Given the description of an element on the screen output the (x, y) to click on. 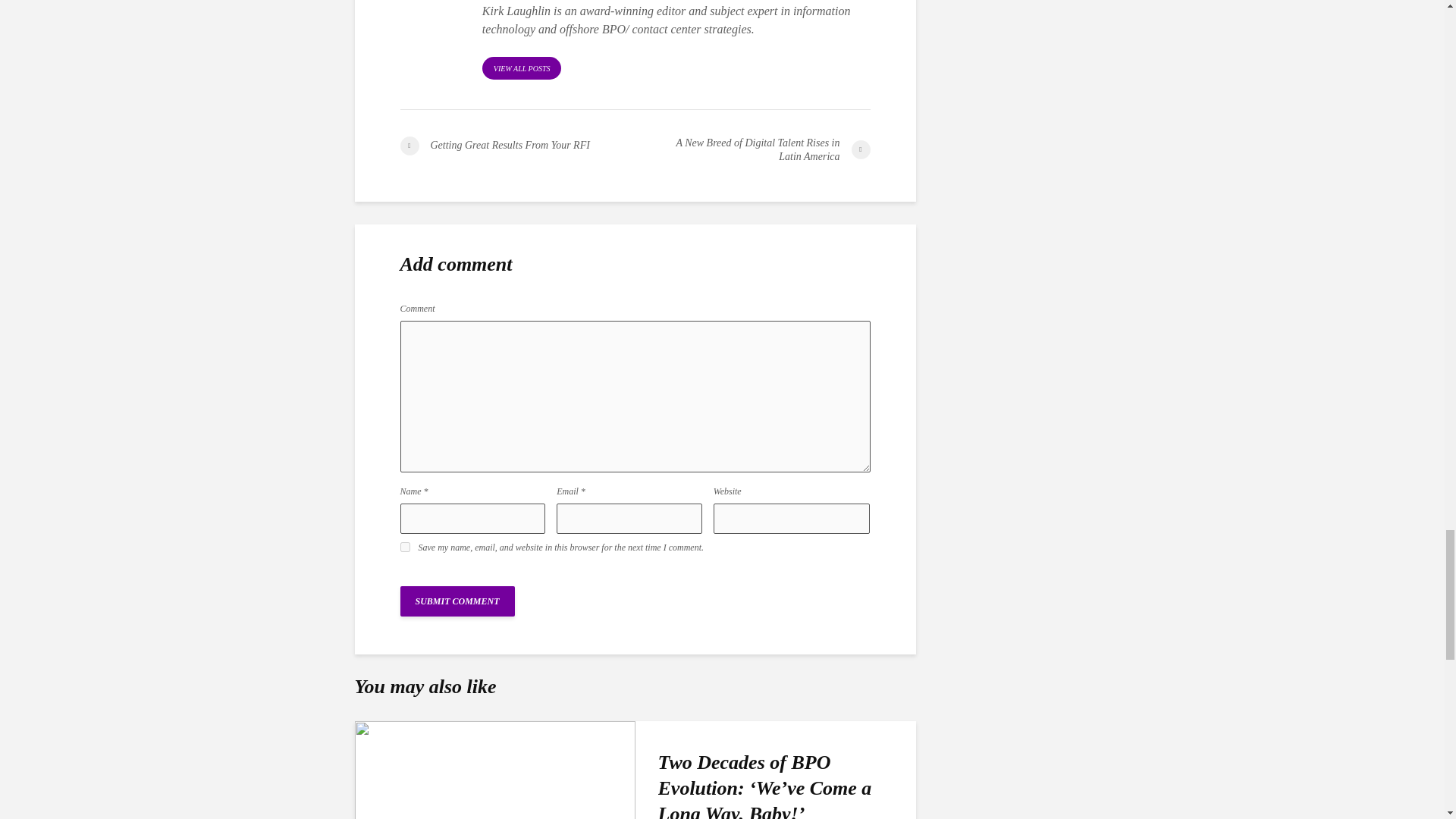
Submit Comment (457, 601)
Submit Comment (457, 601)
A New Breed of Digital Talent Rises in Latin America (752, 149)
VIEW ALL POSTS (521, 67)
yes (405, 547)
Getting Great Results From Your RFI (517, 145)
